Given the description of an element on the screen output the (x, y) to click on. 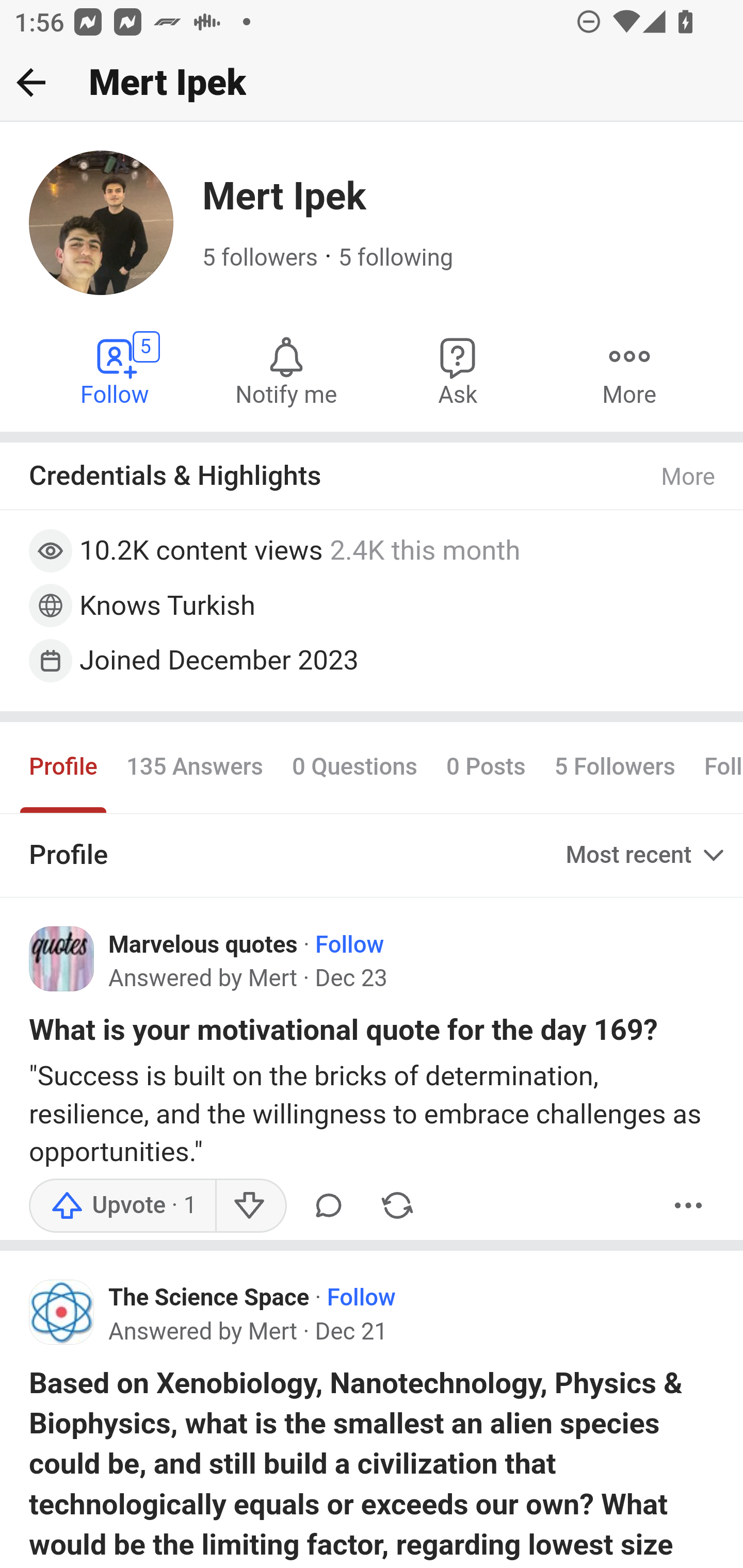
Back (30, 82)
5 followers (260, 257)
5 following (395, 257)
Follow Mert Ipek 5 Follow (115, 370)
Notify me (285, 370)
Ask (458, 370)
More (628, 370)
More (688, 477)
Profile (63, 766)
135 Answers (193, 766)
0 Questions (354, 766)
0 Posts (485, 766)
5 Followers (614, 766)
Most recent (647, 854)
Icon for Marvelous quotes (61, 959)
Marvelous quotes (202, 944)
Follow (349, 944)
Upvote (122, 1205)
Downvote (249, 1205)
Comment (328, 1205)
Share (397, 1205)
More (688, 1205)
Icon for The Science Space (61, 1311)
The Science Space (209, 1299)
Follow (361, 1299)
